Given the description of an element on the screen output the (x, y) to click on. 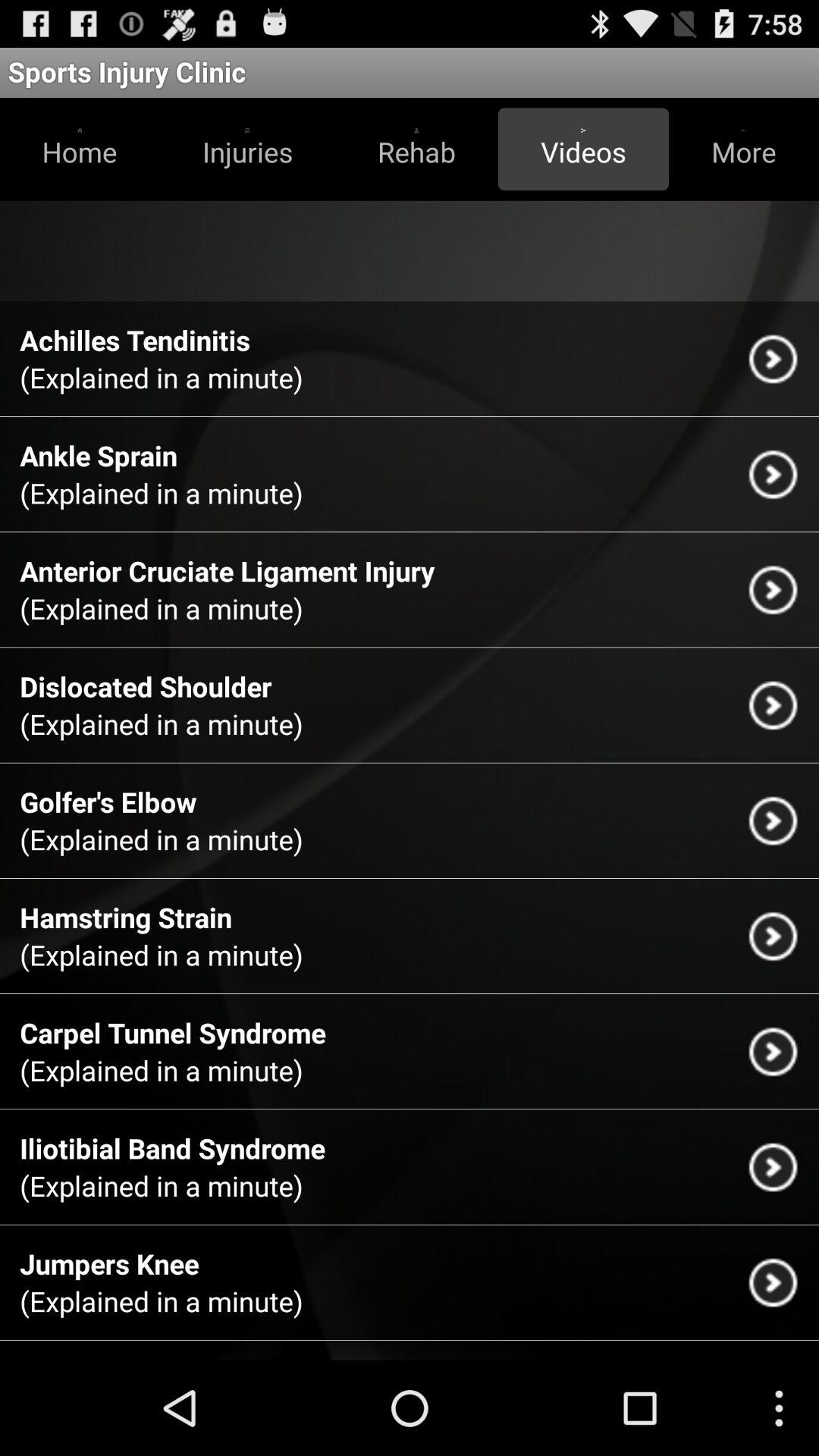
select golfer's elbow (107, 801)
